Given the description of an element on the screen output the (x, y) to click on. 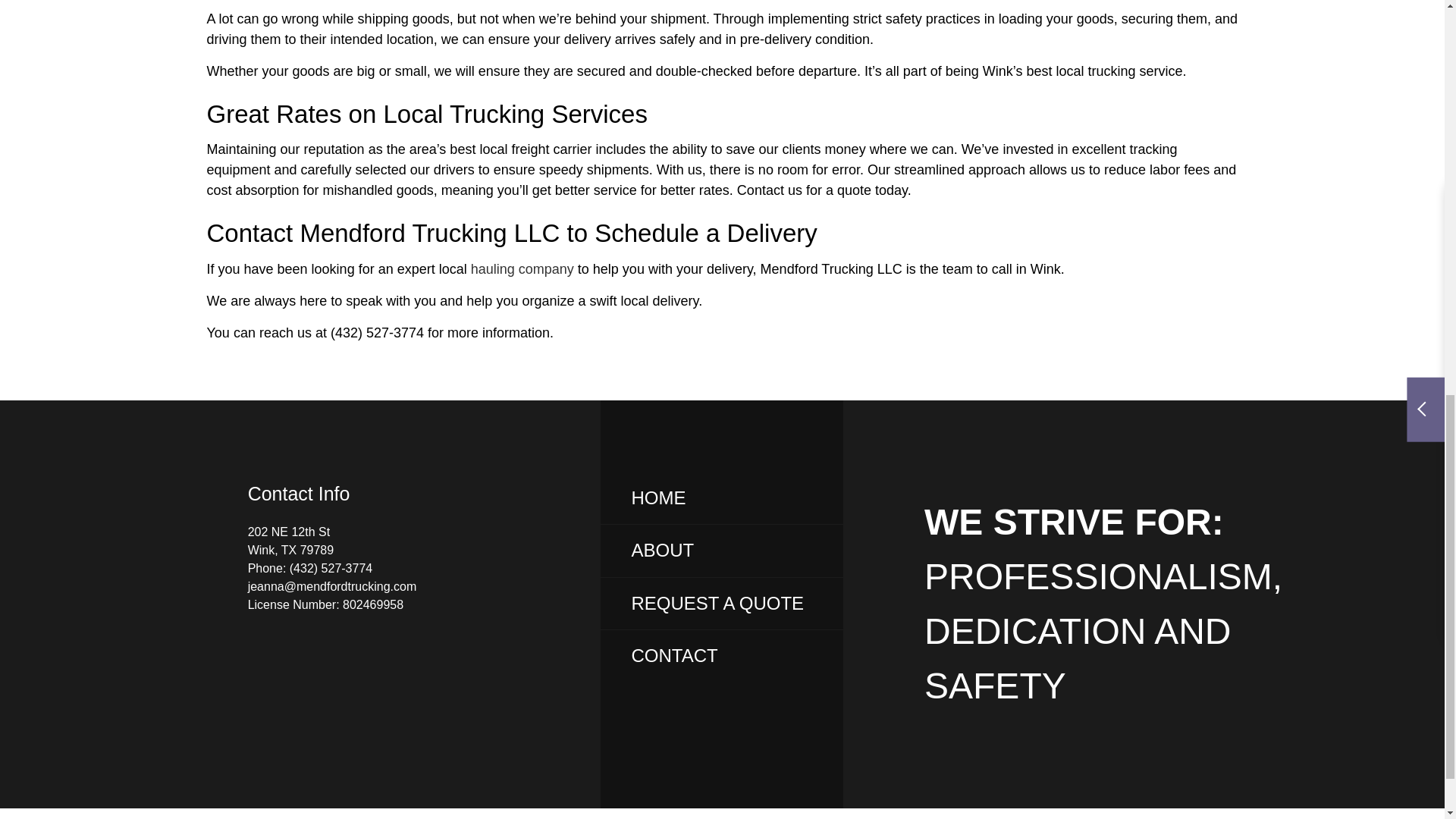
Request a detailed quote (716, 602)
Get in touch with us (673, 655)
Learn more about trucking services (521, 268)
Return to Home (657, 497)
Learn more about us (662, 549)
